Given the description of an element on the screen output the (x, y) to click on. 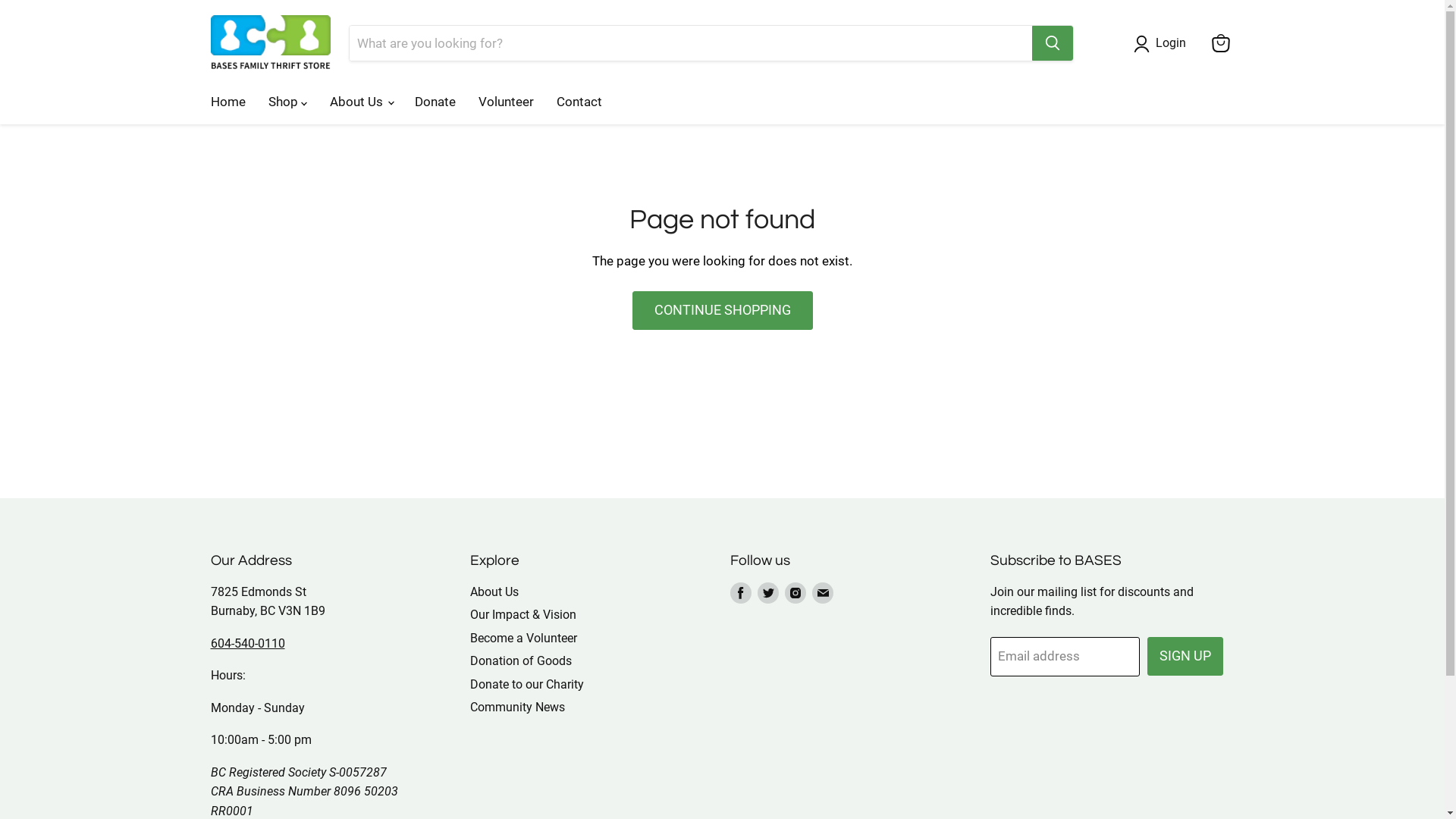
Donation of Goods Element type: text (520, 660)
View cart Element type: text (1220, 42)
Find us on Instagram Element type: text (795, 592)
Find us on Facebook Element type: text (740, 592)
Volunteer Element type: text (506, 101)
Login Element type: text (1170, 43)
CONTINUE SHOPPING Element type: text (722, 310)
Shop Element type: text (286, 101)
604-540-0110 Element type: text (247, 643)
Community News Element type: text (517, 706)
About Us Element type: text (360, 101)
Find us on Email Element type: text (822, 592)
About Us Element type: text (494, 591)
SIGN UP Element type: text (1185, 656)
Contact Element type: text (578, 101)
Find us on Twitter Element type: text (767, 592)
Home Element type: text (227, 101)
Donate to our Charity Element type: text (526, 684)
Donate Element type: text (435, 101)
Our Impact & Vision Element type: text (523, 614)
Become a Volunteer Element type: text (523, 637)
